Given the description of an element on the screen output the (x, y) to click on. 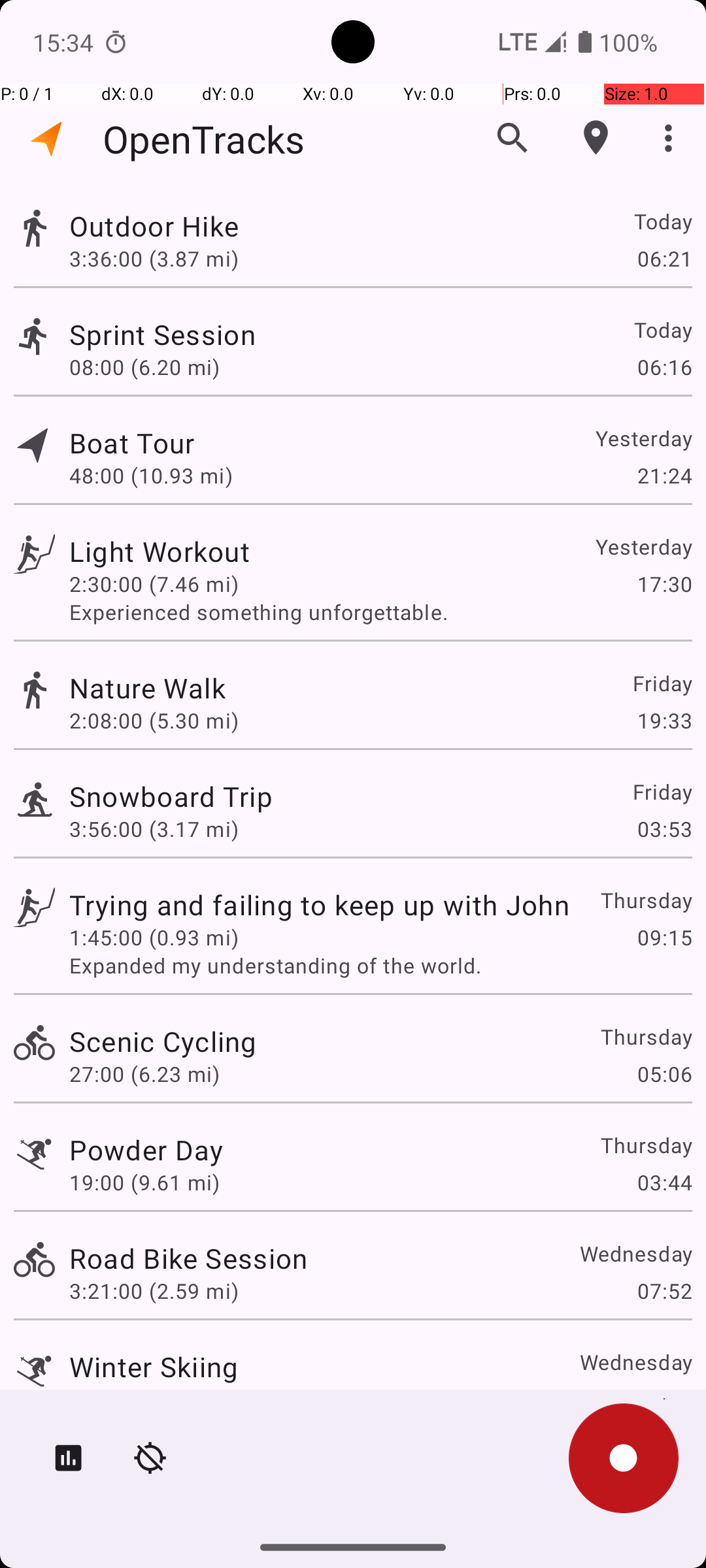
Outdoor Hike Element type: android.widget.TextView (319, 225)
3:36:00 (3.87 mi) Element type: android.widget.TextView (153, 258)
06:21 Element type: android.widget.TextView (664, 258)
Sprint Session Element type: android.widget.TextView (162, 333)
08:00 (6.20 mi) Element type: android.widget.TextView (144, 366)
06:16 Element type: android.widget.TextView (664, 366)
Boat Tour Element type: android.widget.TextView (145, 442)
48:00 (10.93 mi) Element type: android.widget.TextView (150, 475)
21:24 Element type: android.widget.TextView (664, 475)
Light Workout Element type: android.widget.TextView (187, 550)
2:30:00 (7.46 mi) Element type: android.widget.TextView (153, 583)
17:30 Element type: android.widget.TextView (664, 583)
Experienced something unforgettable. Element type: android.widget.TextView (380, 611)
Nature Walk Element type: android.widget.TextView (153, 687)
2:08:00 (5.30 mi) Element type: android.widget.TextView (153, 720)
19:33 Element type: android.widget.TextView (664, 720)
Snowboard Trip Element type: android.widget.TextView (170, 795)
3:56:00 (3.17 mi) Element type: android.widget.TextView (153, 828)
03:53 Element type: android.widget.TextView (664, 828)
Trying and failing to keep up with John Element type: android.widget.TextView (319, 904)
1:45:00 (0.93 mi) Element type: android.widget.TextView (153, 937)
09:15 Element type: android.widget.TextView (664, 937)
Expanded my understanding of the world. Element type: android.widget.TextView (380, 965)
Scenic Cycling Element type: android.widget.TextView (162, 1040)
27:00 (6.23 mi) Element type: android.widget.TextView (144, 1073)
05:06 Element type: android.widget.TextView (664, 1073)
Powder Day Element type: android.widget.TextView (145, 1149)
19:00 (9.61 mi) Element type: android.widget.TextView (144, 1182)
03:44 Element type: android.widget.TextView (664, 1182)
Road Bike Session Element type: android.widget.TextView (187, 1257)
3:21:00 (2.59 mi) Element type: android.widget.TextView (153, 1290)
07:52 Element type: android.widget.TextView (664, 1290)
Winter Skiing Element type: android.widget.TextView (153, 1366)
1:07:00 (1.55 mi) Element type: android.widget.TextView (153, 1399)
04:55 Element type: android.widget.TextView (664, 1399)
